Given the description of an element on the screen output the (x, y) to click on. 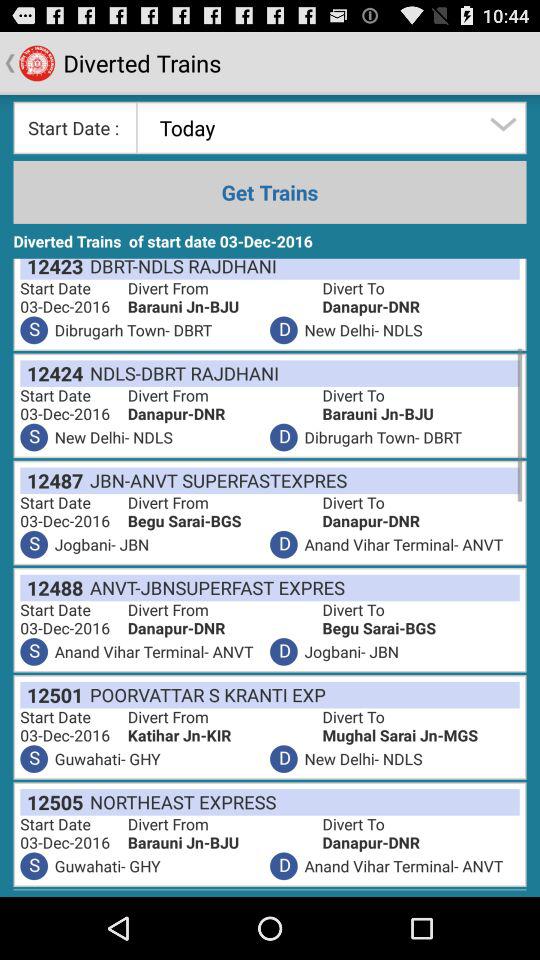
swipe until 12505 (51, 801)
